Given the description of an element on the screen output the (x, y) to click on. 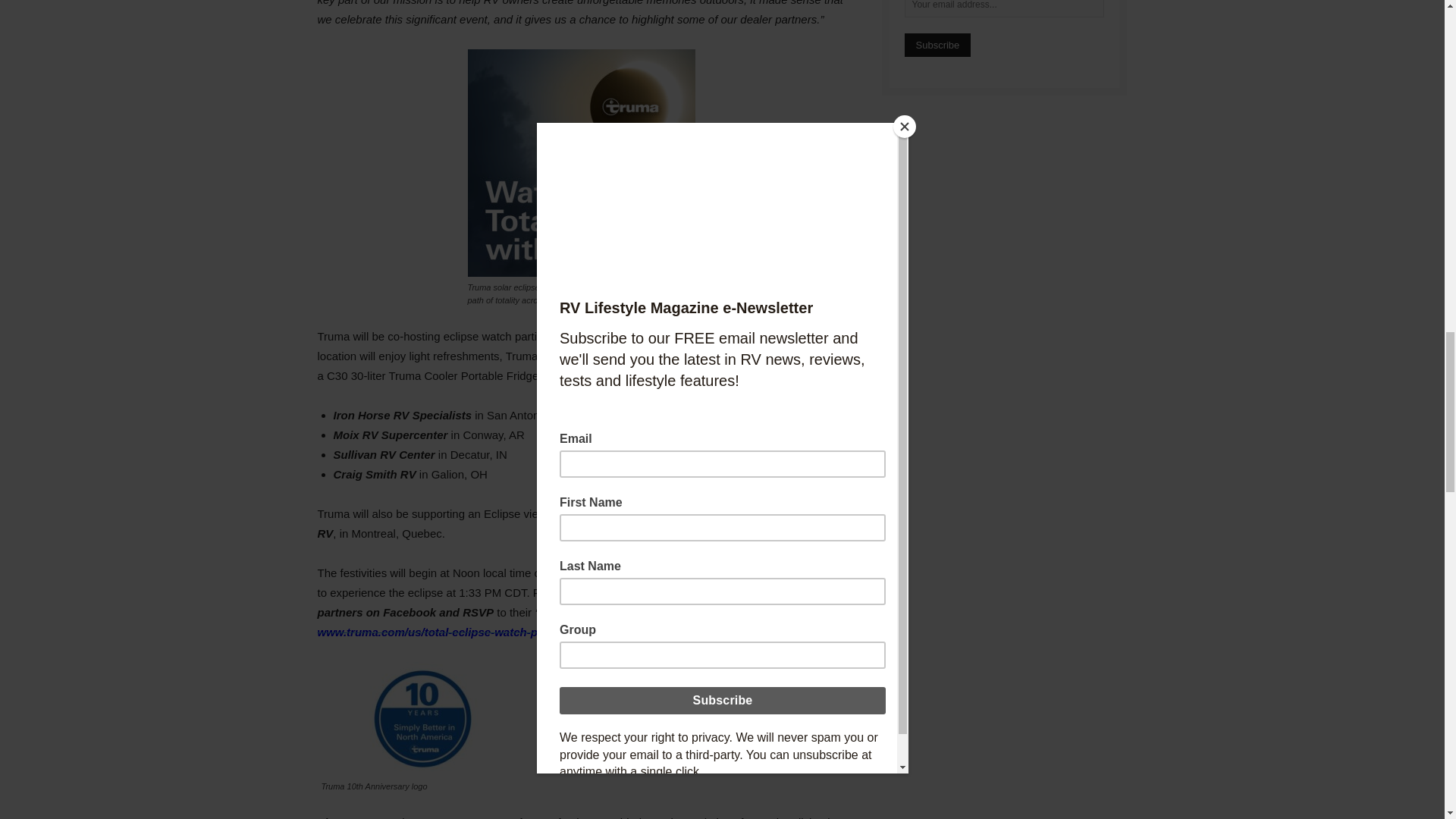
Subscribe (937, 44)
